Given the description of an element on the screen output the (x, y) to click on. 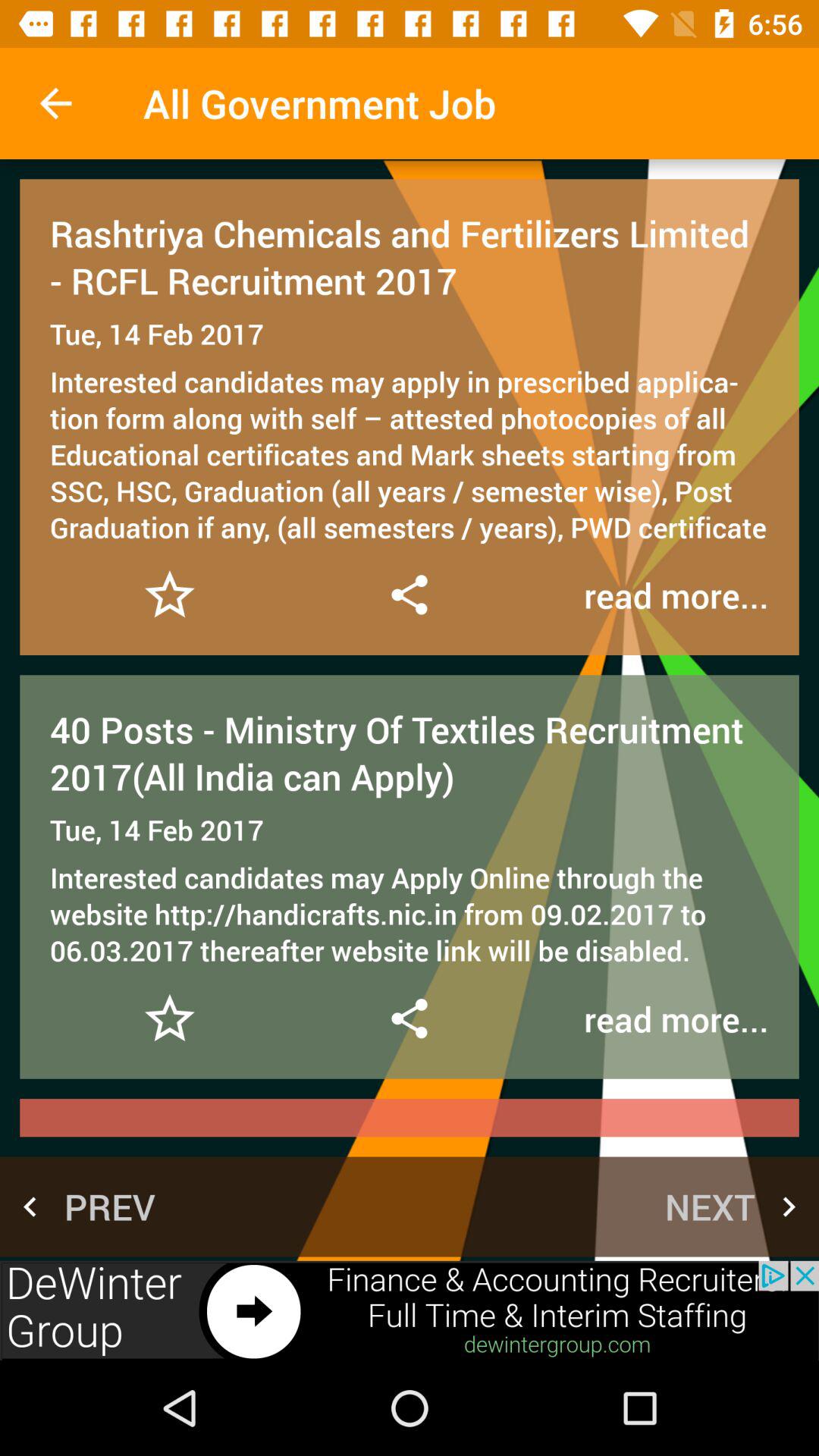
star rating (169, 595)
